Given the description of an element on the screen output the (x, y) to click on. 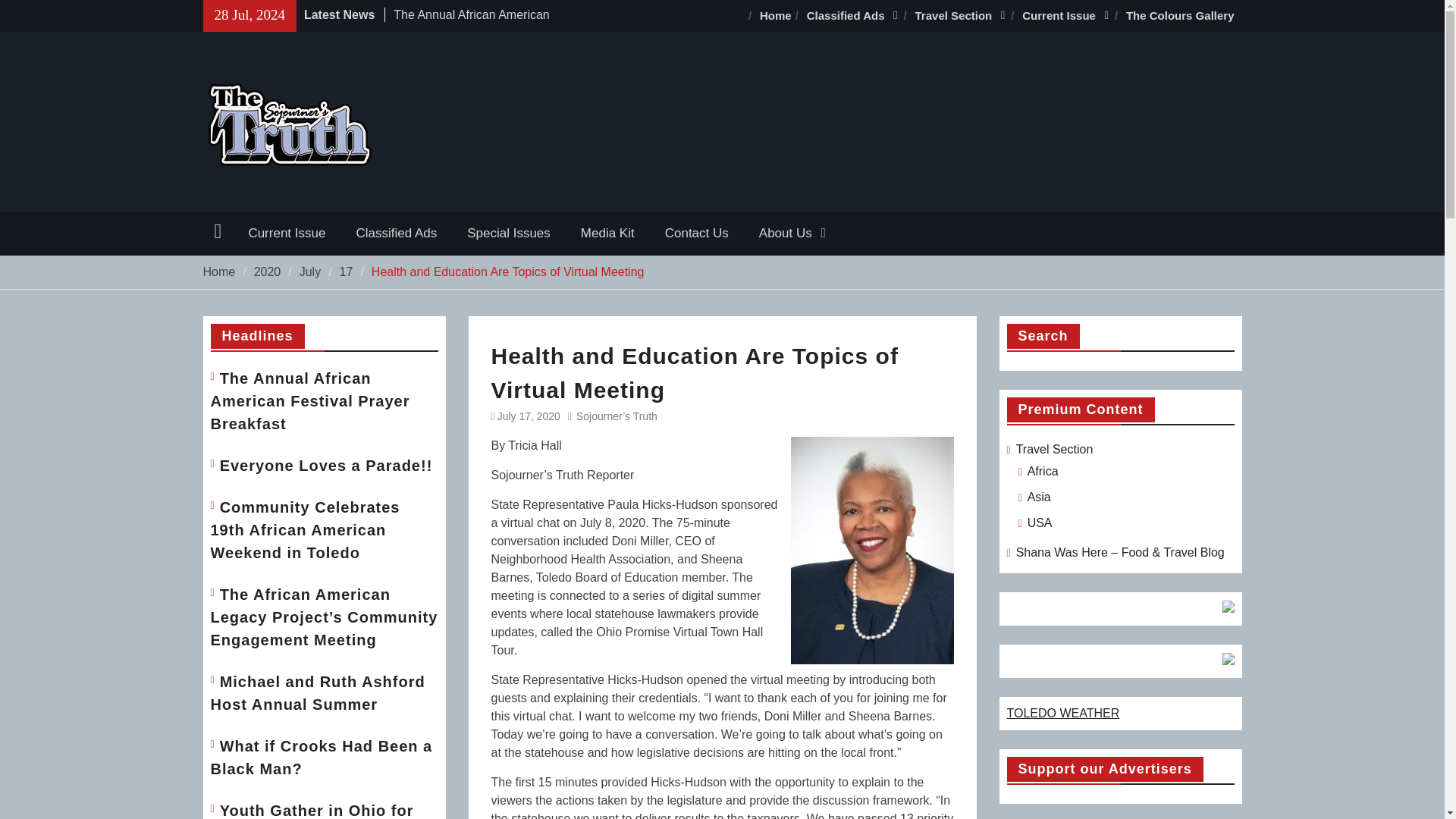
Current Issue (286, 233)
Home (775, 15)
Current Issue (1066, 15)
Classified Ads (853, 15)
Travel Section (960, 15)
The Colours Gallery (1179, 15)
The Annual African American Festival Prayer Breakfast (470, 23)
